Given the description of an element on the screen output the (x, y) to click on. 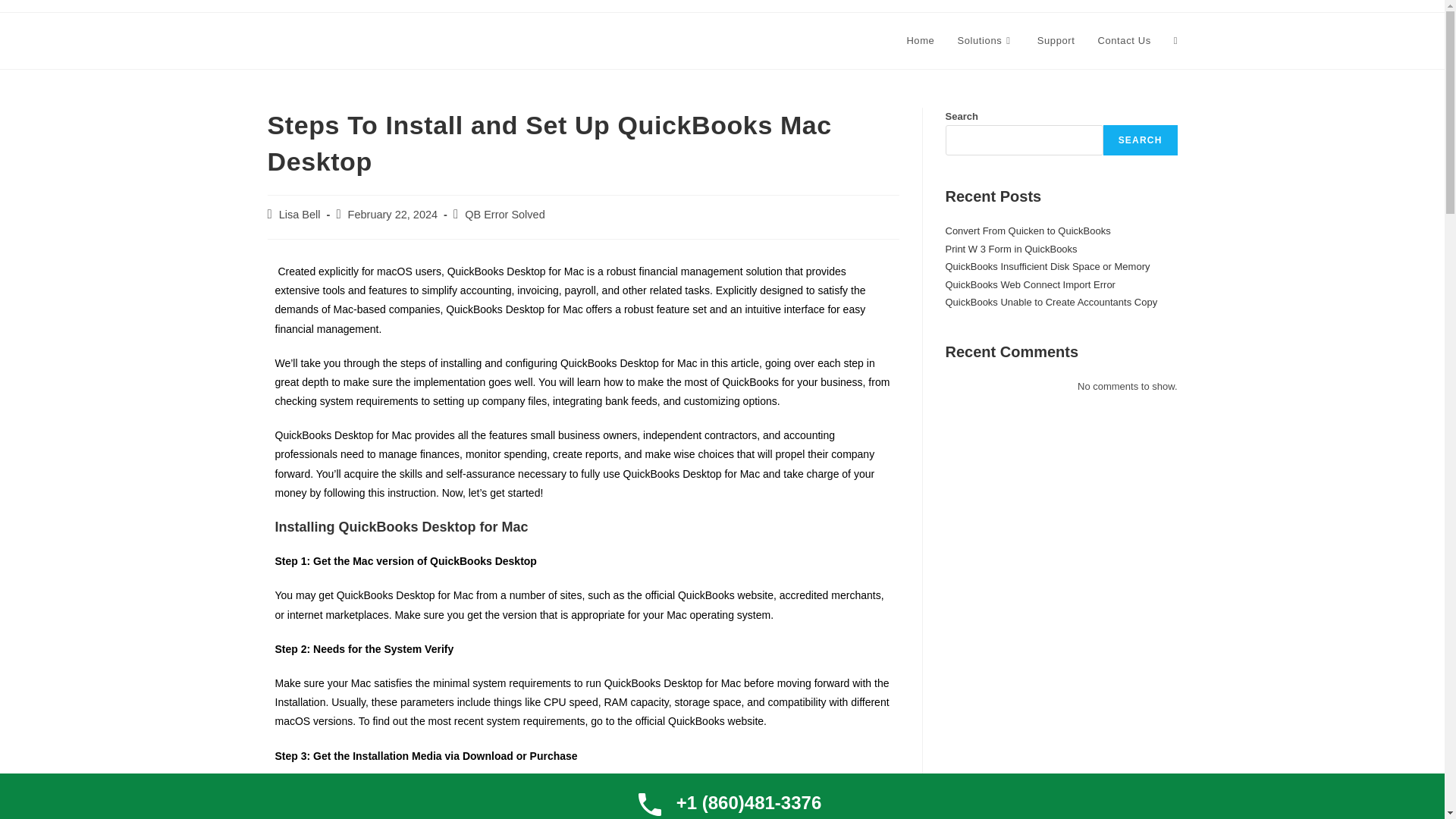
Print W 3 Form in QuickBooks (1010, 248)
Solutions (984, 40)
Geek Web World (335, 40)
QuickBooks Insufficient Disk Space or Memory (1047, 266)
Lisa Bell (299, 214)
QuickBooks Unable to Create Accountants Copy (1050, 301)
SEARCH (1140, 140)
Contact Us (1123, 40)
QB Error Solved (504, 214)
Support (1056, 40)
